Given the description of an element on the screen output the (x, y) to click on. 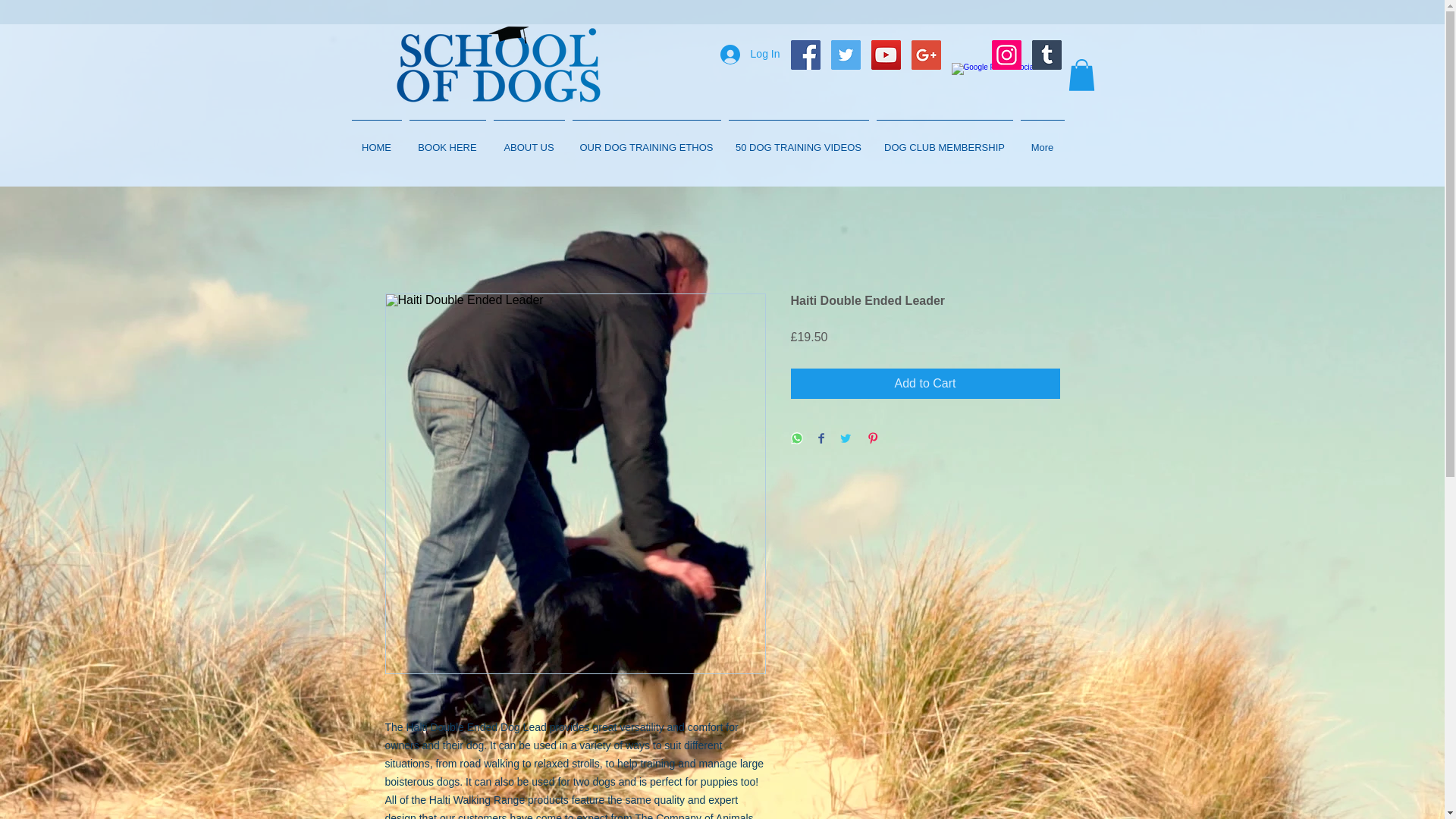
DOG CLUB MEMBERSHIP (944, 140)
ABOUT US (529, 140)
HOME (375, 140)
BOOK HERE (446, 140)
Log In (750, 54)
OUR DOG TRAINING ETHOS (647, 140)
Add to Cart (924, 383)
50 DOG TRAINING VIDEOS (798, 140)
